Given the description of an element on the screen output the (x, y) to click on. 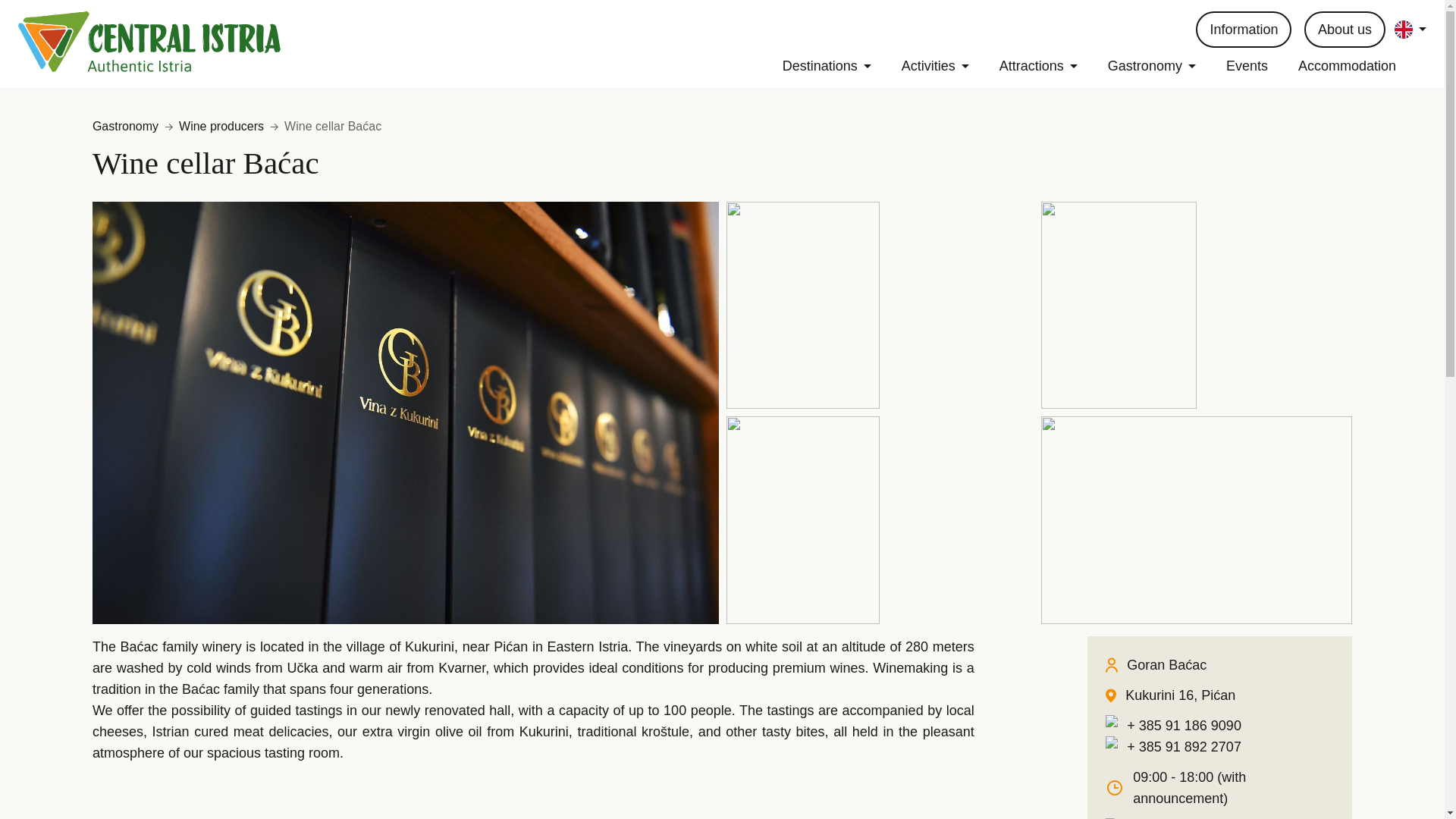
Events (1261, 65)
Information (1243, 28)
Wine producers (224, 126)
Accommodation (1362, 65)
Gastronomy (128, 126)
About us (1345, 28)
